Given the description of an element on the screen output the (x, y) to click on. 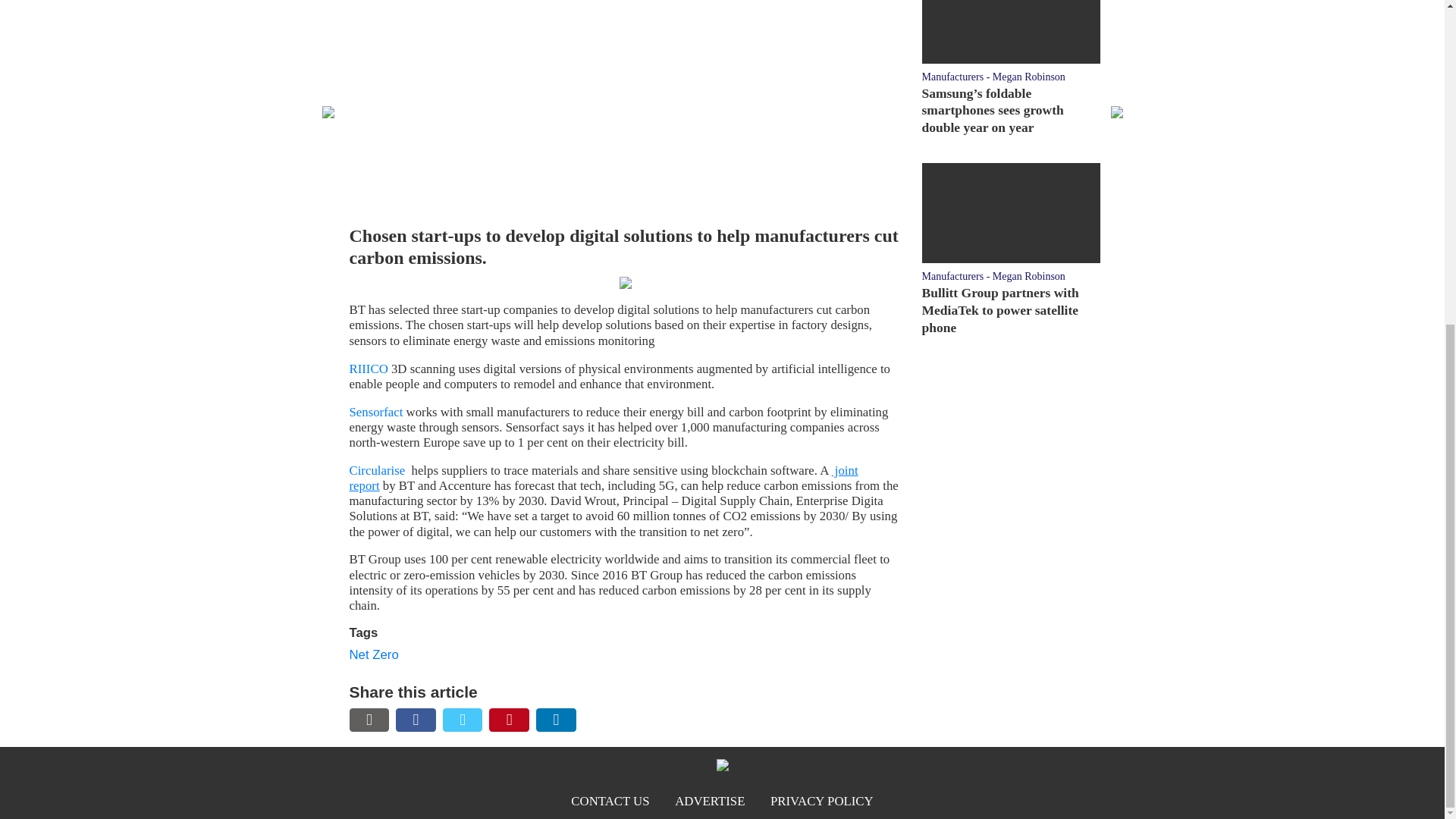
Sensorfact (376, 411)
 joint report (603, 478)
Net Zero (373, 654)
Circularise (376, 470)
RIIICO (368, 368)
